Given the description of an element on the screen output the (x, y) to click on. 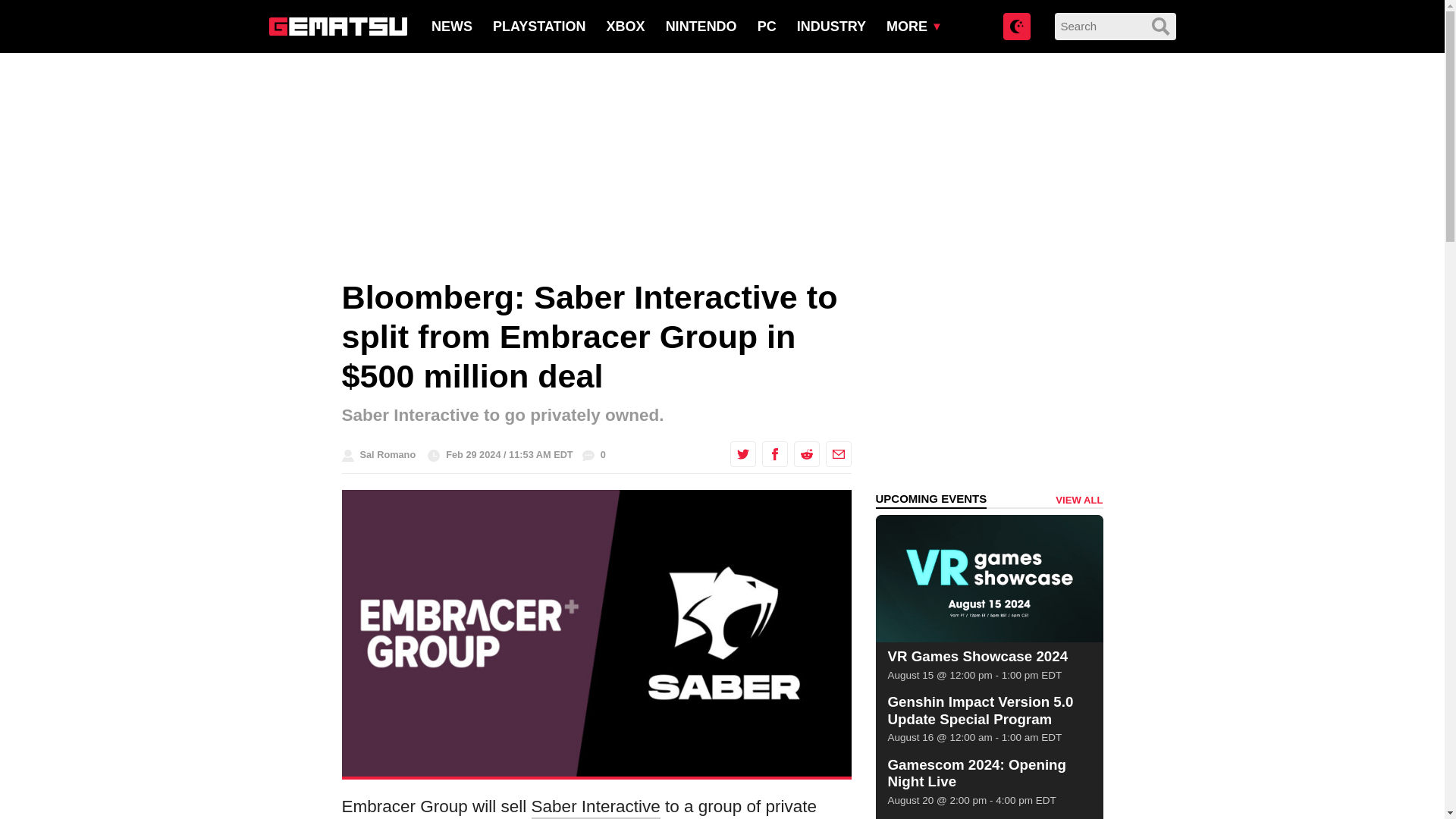
Posts by Sal Romano (386, 454)
Gematsu (336, 26)
NEWS (450, 26)
PC (766, 26)
Share this on Reddit (805, 453)
XBOX (626, 26)
Share this by email (837, 453)
NINTENDO (700, 26)
INDUSTRY (831, 26)
MORE (906, 26)
